Given the description of an element on the screen output the (x, y) to click on. 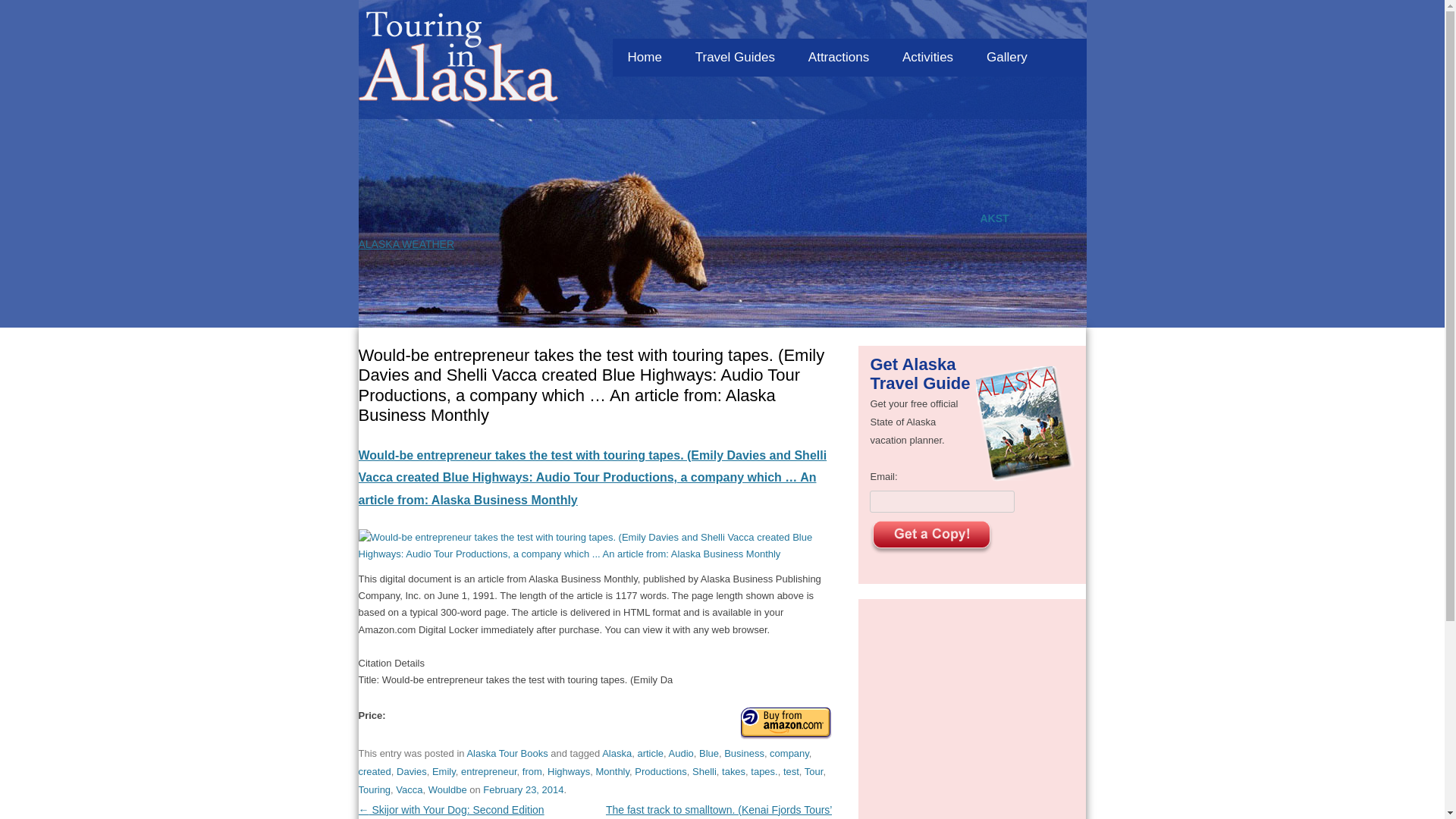
Monthly (612, 771)
from (531, 771)
Skip to content (884, 34)
5:16 am (523, 789)
takes (733, 771)
Alaska Tour Books (506, 753)
Shelli (704, 771)
Blue (708, 753)
Alaska (616, 753)
Wouldbe (447, 789)
